Given the description of an element on the screen output the (x, y) to click on. 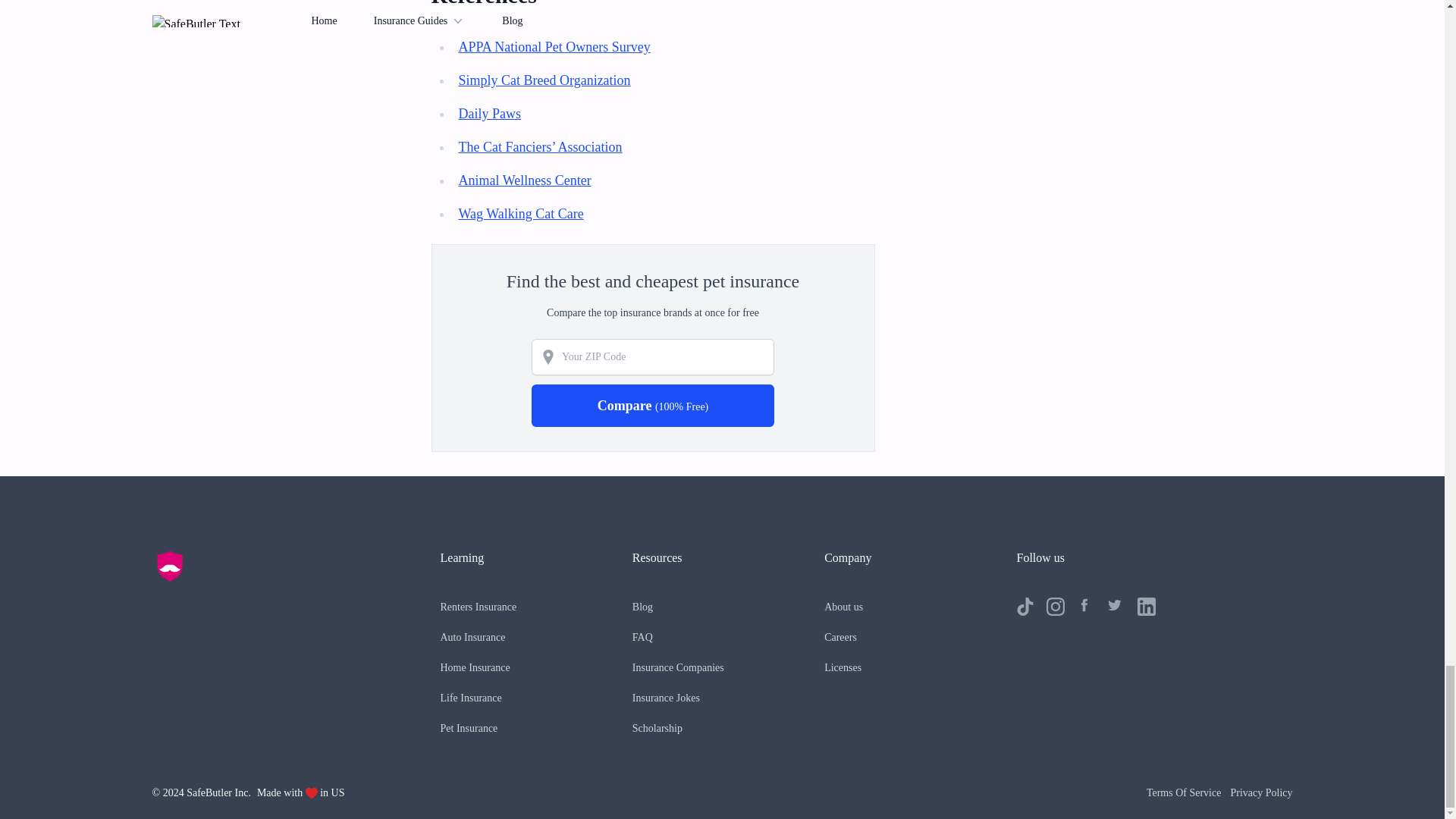
Animal Wellness Center (524, 180)
Simply Cat Breed Organization (544, 79)
Renters Insurance (477, 606)
Home Insurance (474, 667)
Follow us on Instagram (1055, 606)
Wag Walking Cat Care (520, 213)
Pet Insurance (468, 727)
Daily Paws (489, 113)
Follow us on TikTok (1024, 606)
Follow us on LinkedIn (1146, 606)
